Given the description of an element on the screen output the (x, y) to click on. 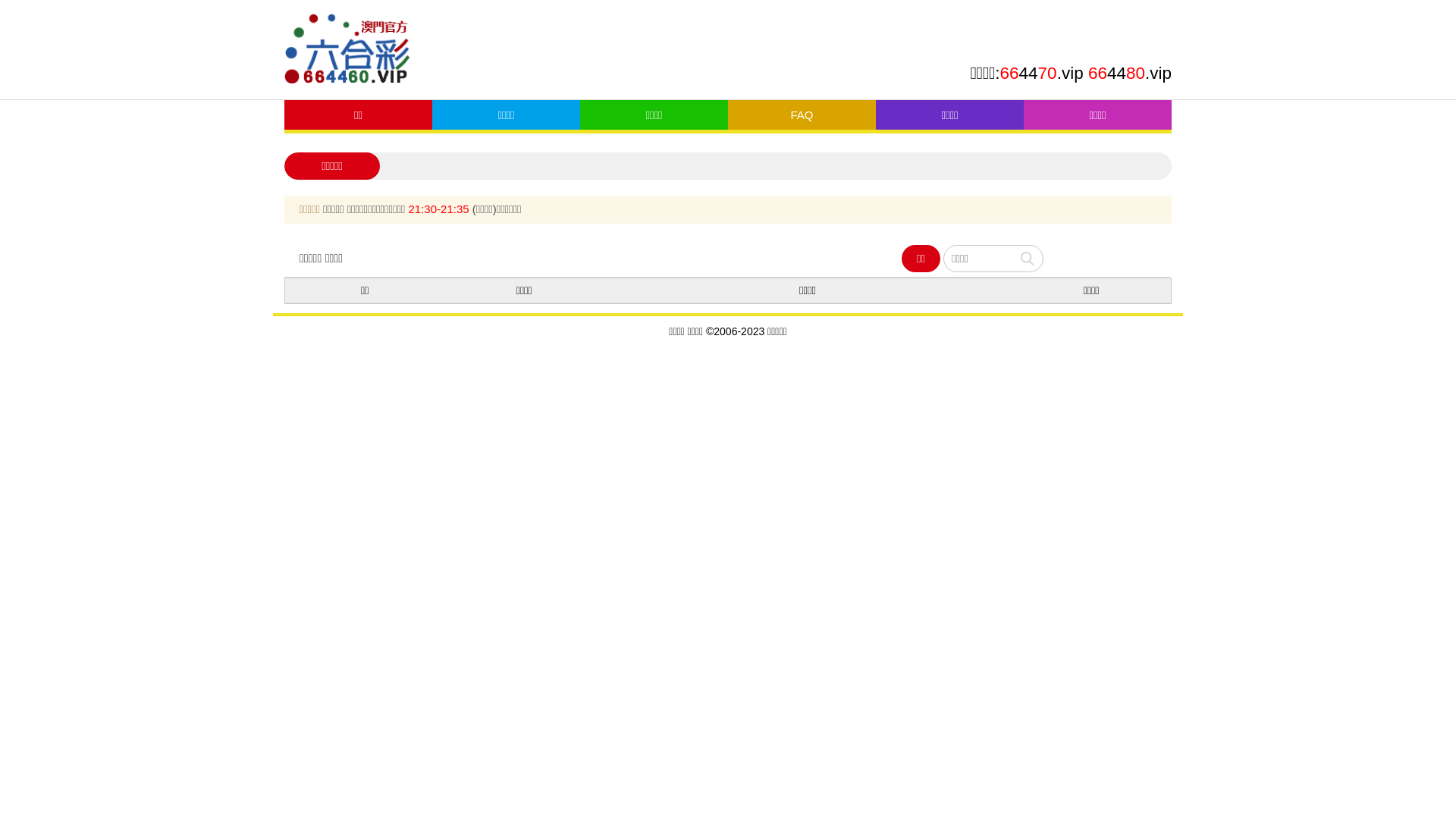
FAQ Element type: text (801, 114)
